Given the description of an element on the screen output the (x, y) to click on. 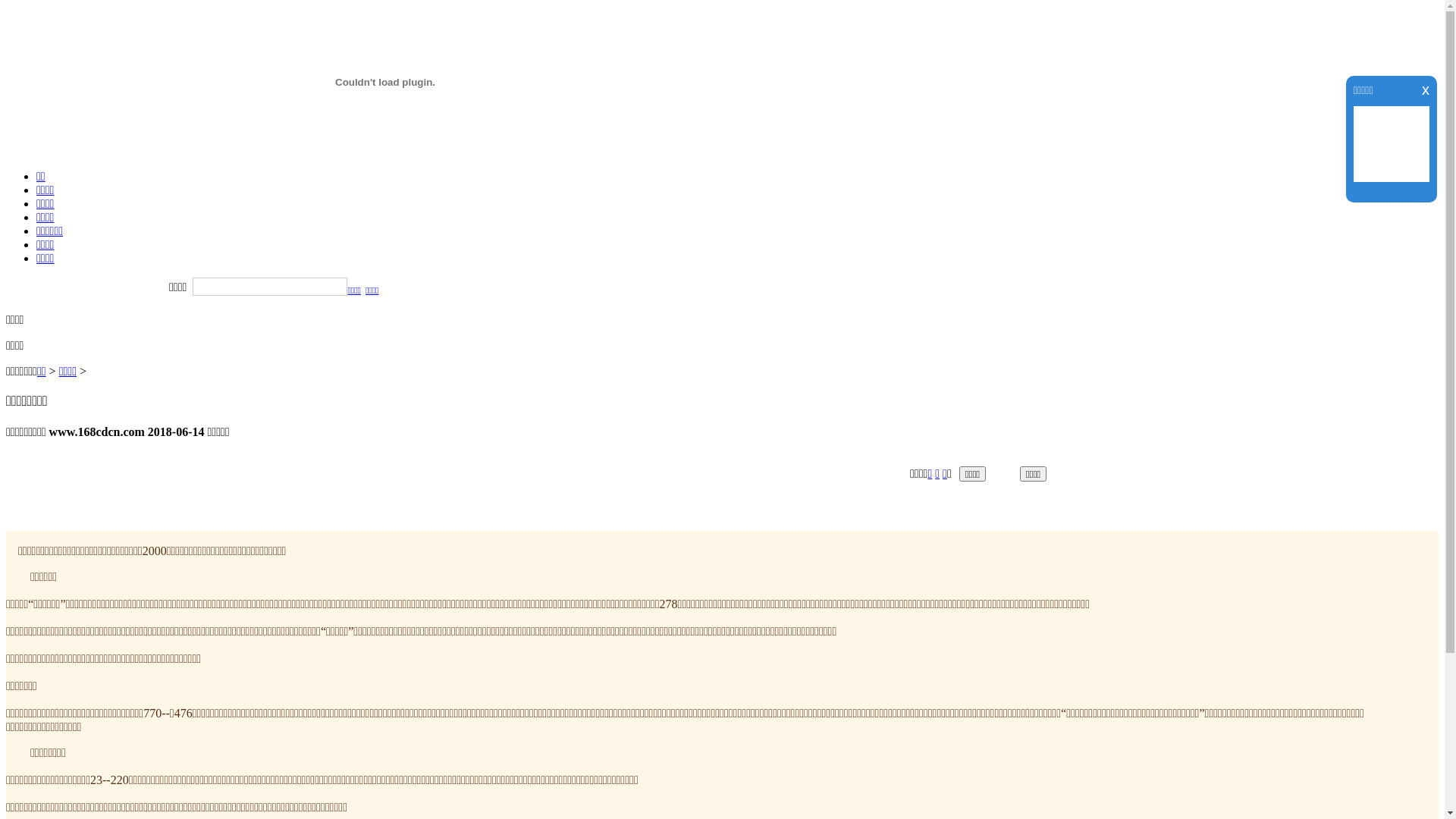
x Element type: text (1425, 89)
